Given the description of an element on the screen output the (x, y) to click on. 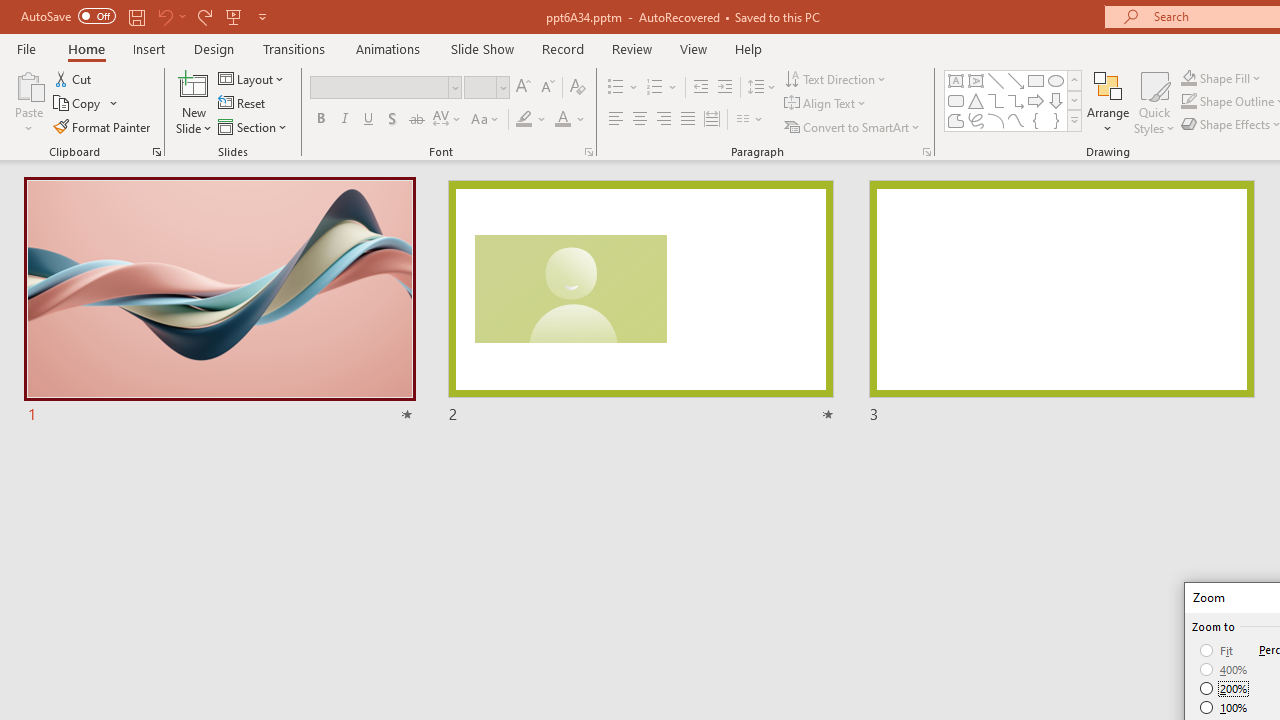
100% (1224, 707)
